Given the description of an element on the screen output the (x, y) to click on. 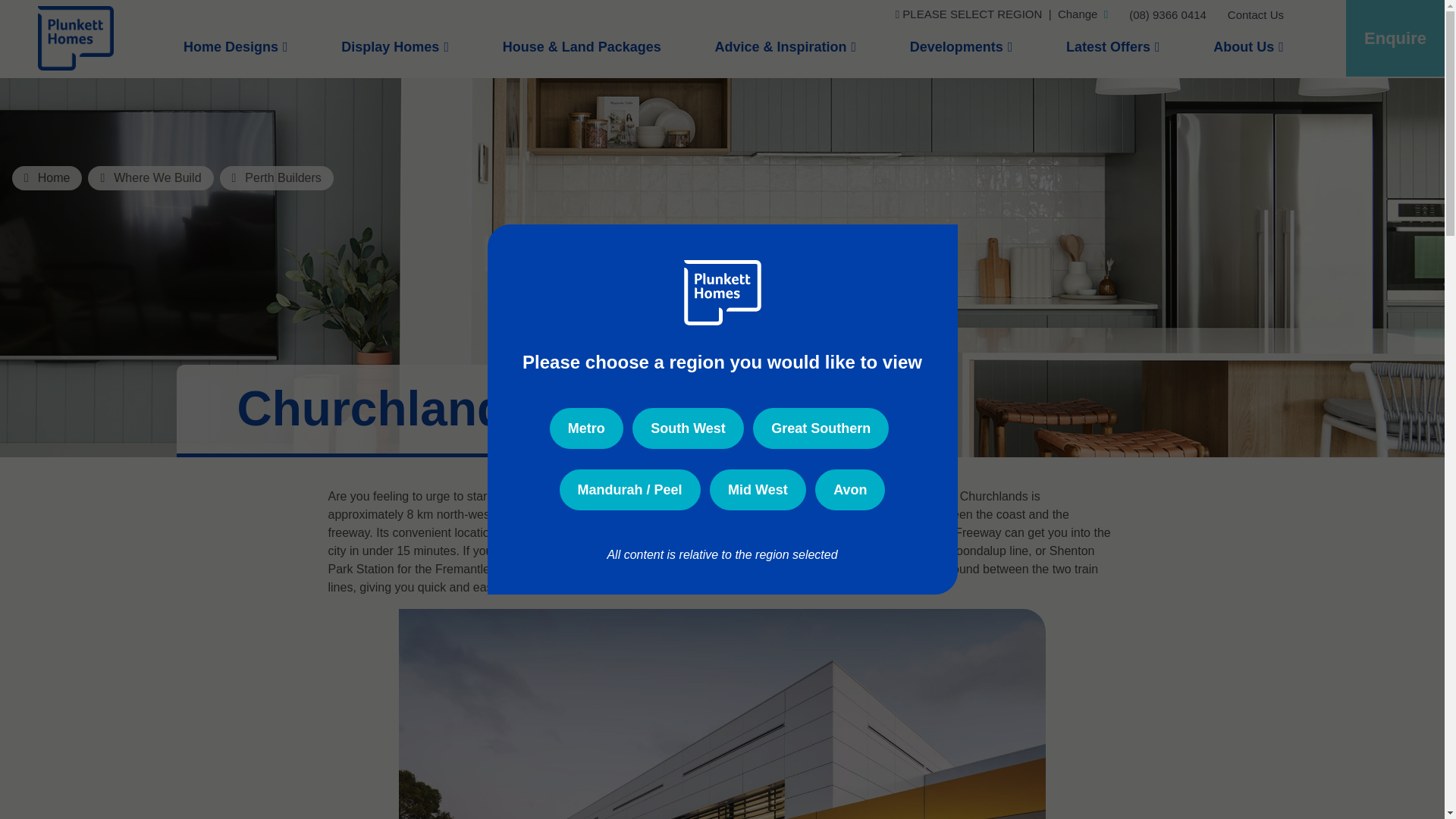
Contact Us (1255, 15)
Home Designs (235, 53)
Display Homes (394, 53)
